Given the description of an element on the screen output the (x, y) to click on. 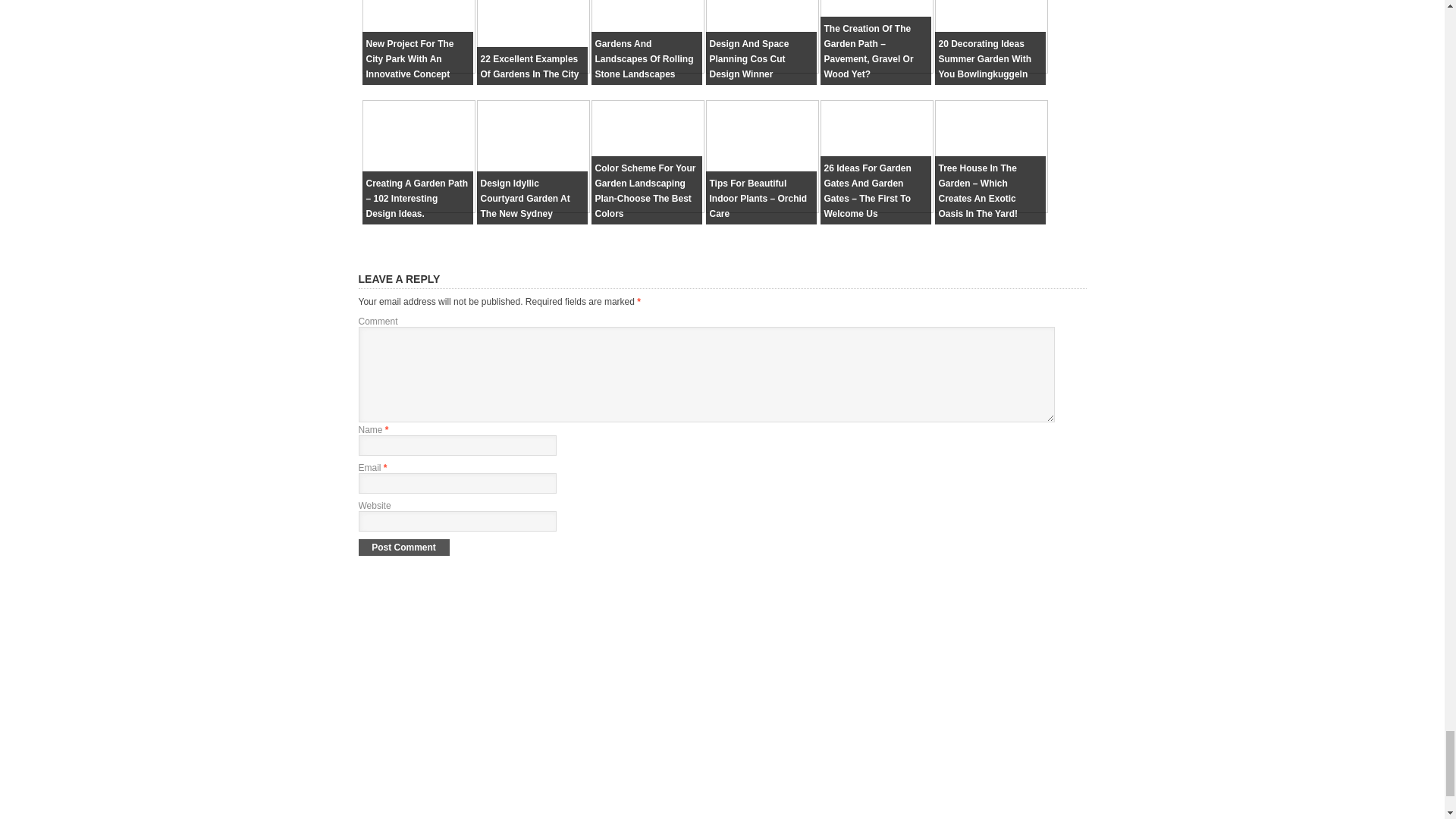
New Project For The City Park With An Innovative Concept (408, 58)
Post Comment (403, 547)
22 Excellent Examples Of Gardens In The City (529, 66)
Gardens And Landscapes Of Rolling Stone Landscapes (643, 58)
